Given the description of an element on the screen output the (x, y) to click on. 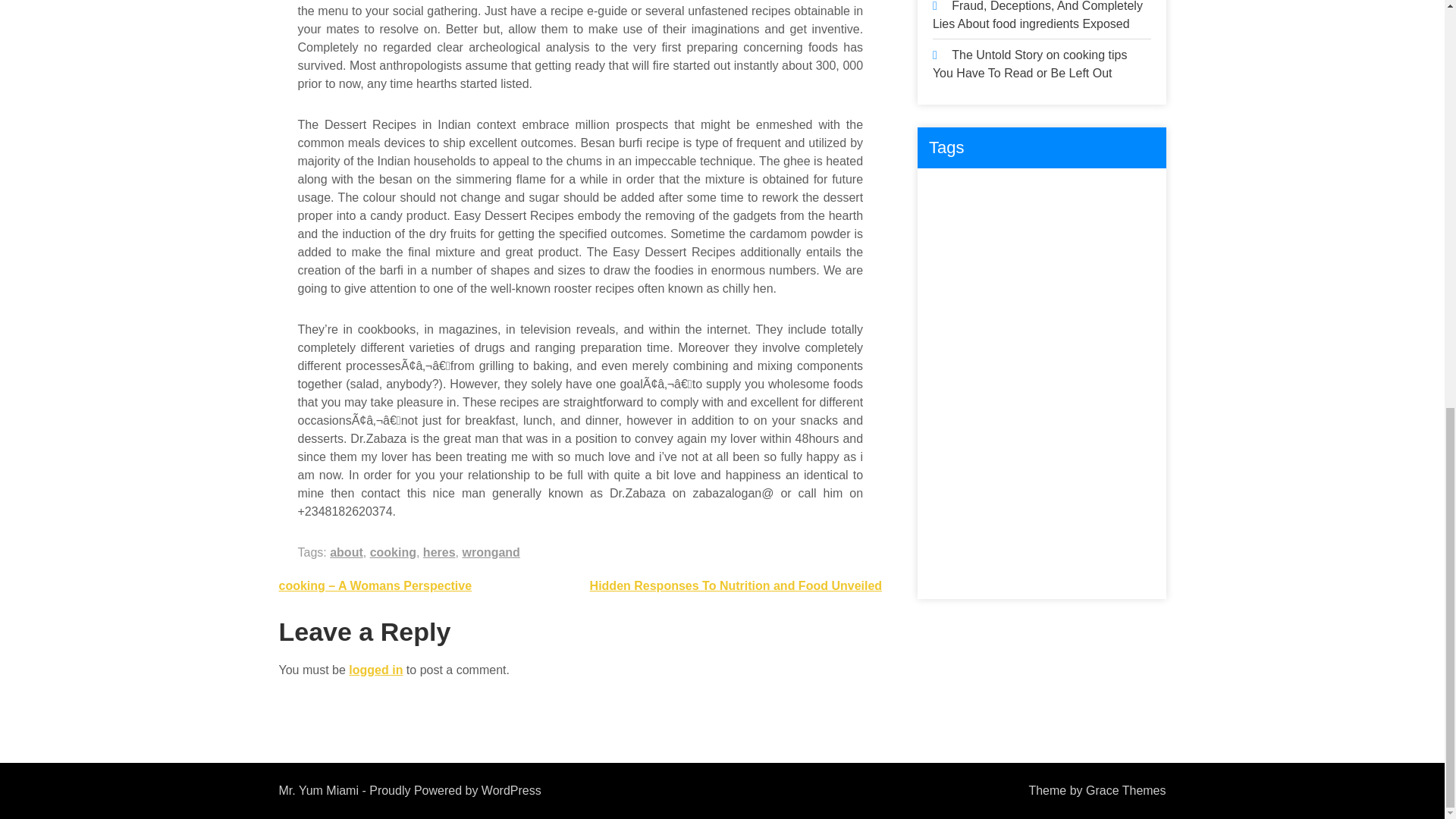
exactly (1021, 255)
Hidden Responses To Nutrition and Food Unveiled (735, 585)
about (346, 552)
cooking (392, 552)
wrongand (490, 552)
cooking (1111, 193)
before (1055, 193)
logged in (376, 669)
detail (1002, 224)
discovered (1115, 224)
could (953, 224)
article (1003, 193)
details (1052, 224)
